Given the description of an element on the screen output the (x, y) to click on. 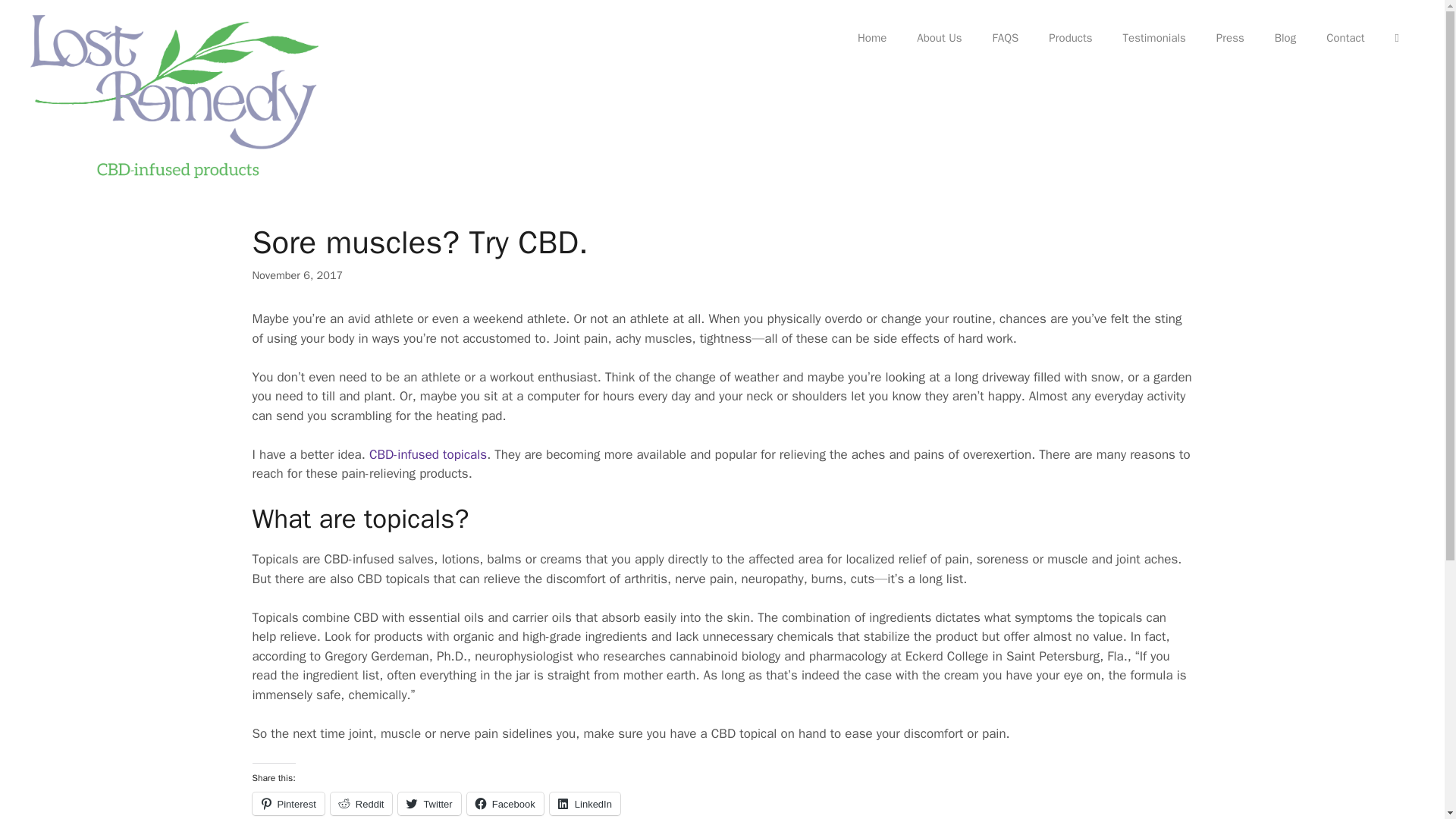
Click to share on Reddit (361, 803)
Pinterest (287, 803)
Twitter (428, 803)
Press (1230, 37)
Contact (1344, 37)
LinkedIn (585, 803)
FAQS (1004, 37)
Blog (1285, 37)
Products (1069, 37)
Testimonials (1154, 37)
Facebook (505, 803)
Click to share on Twitter (428, 803)
Click to share on LinkedIn (585, 803)
Click to share on Pinterest (287, 803)
Reddit (361, 803)
